Given the description of an element on the screen output the (x, y) to click on. 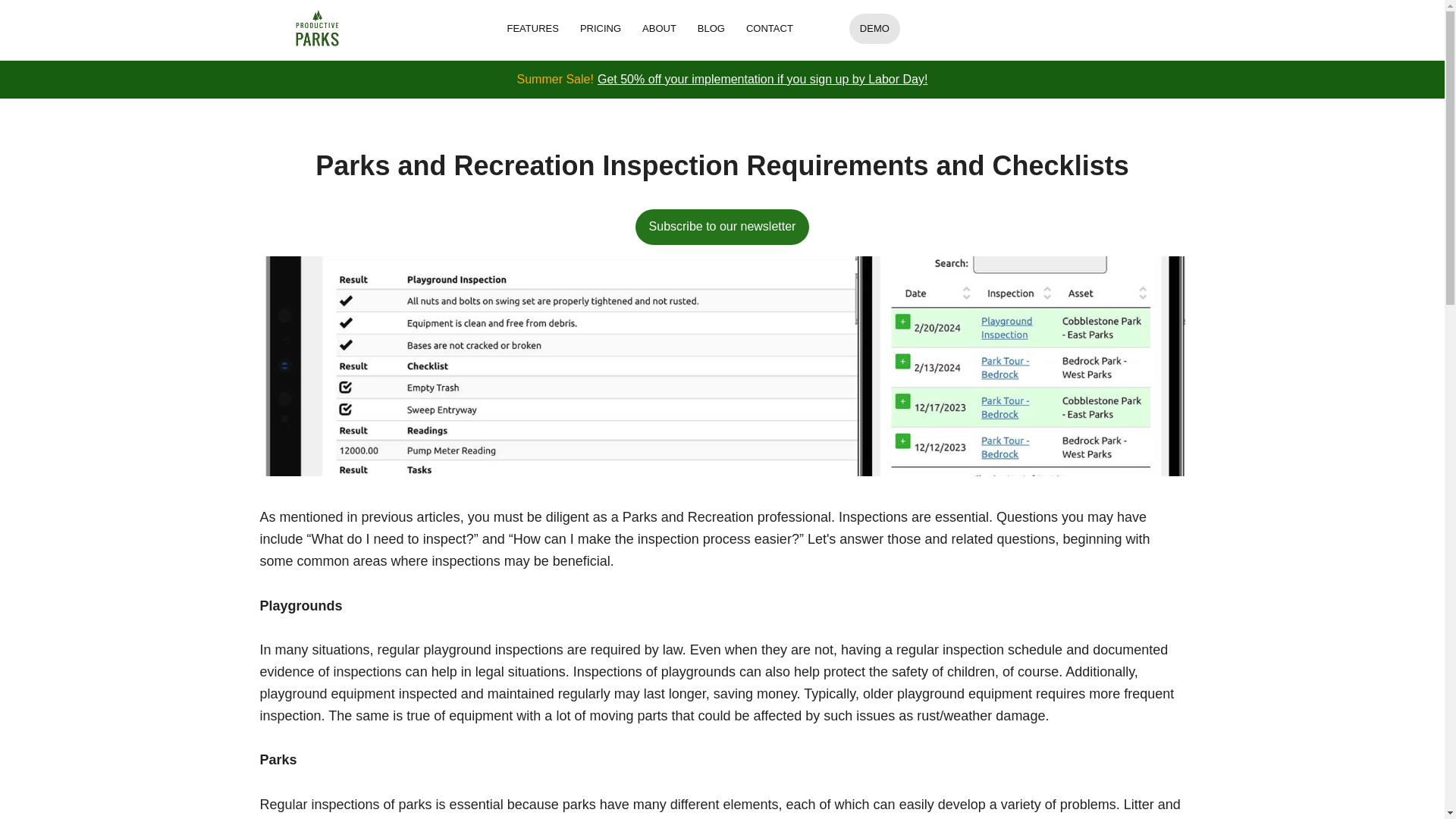
BLOG (711, 28)
DEMO (873, 28)
CONTACT (769, 28)
ABOUT (659, 28)
FEATURES (532, 28)
Subscribe to our newsletter (721, 226)
Summer Sale! (555, 78)
PRICING (600, 28)
